Given the description of an element on the screen output the (x, y) to click on. 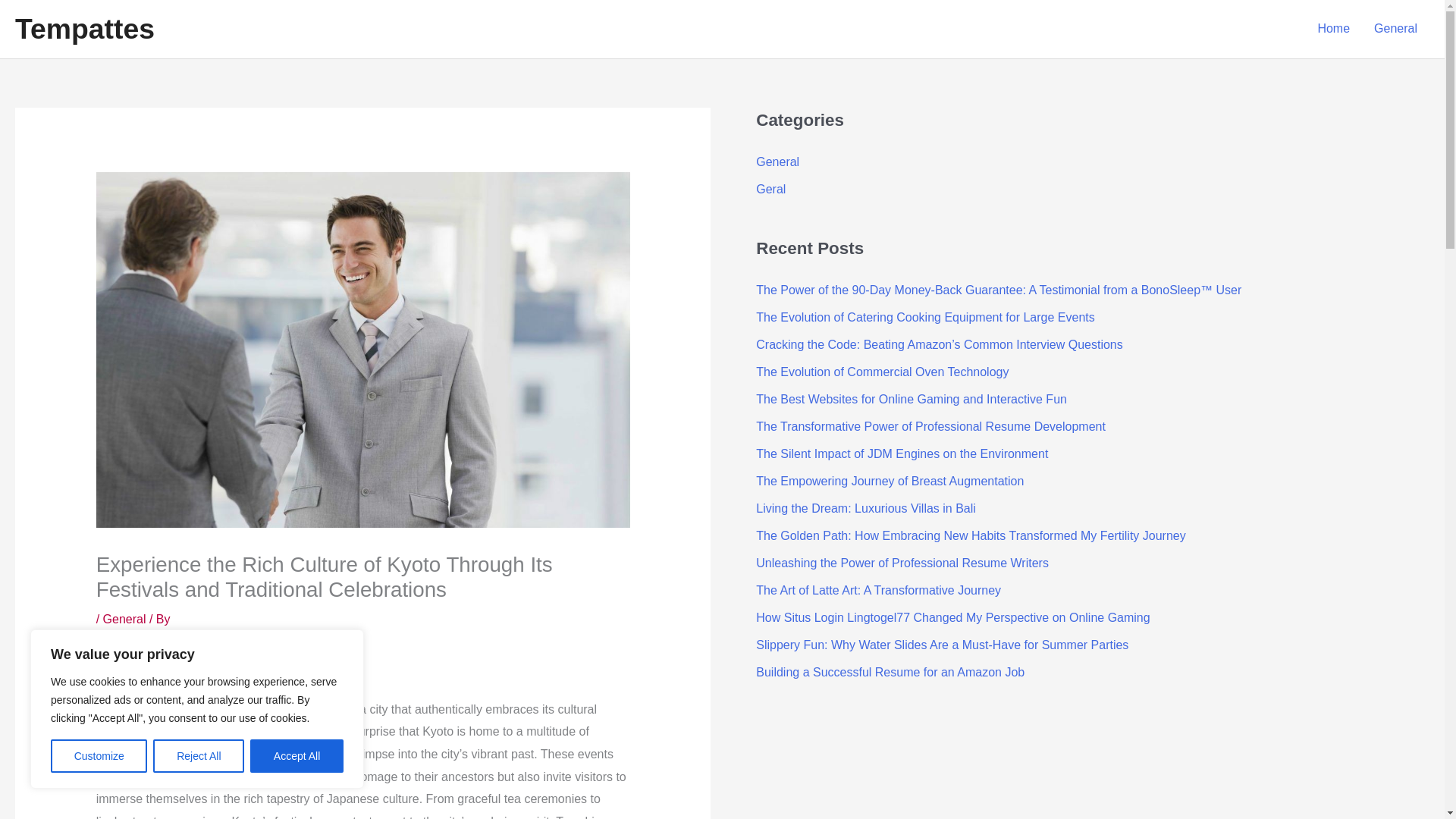
General (125, 618)
The Evolution of Catering Cooking Equipment for Large Events (924, 317)
Geral (770, 188)
General (777, 161)
Home (1332, 28)
Tempattes (84, 29)
General (1395, 28)
Accept All (296, 756)
Reject All (198, 756)
Customize (98, 756)
